Given the description of an element on the screen output the (x, y) to click on. 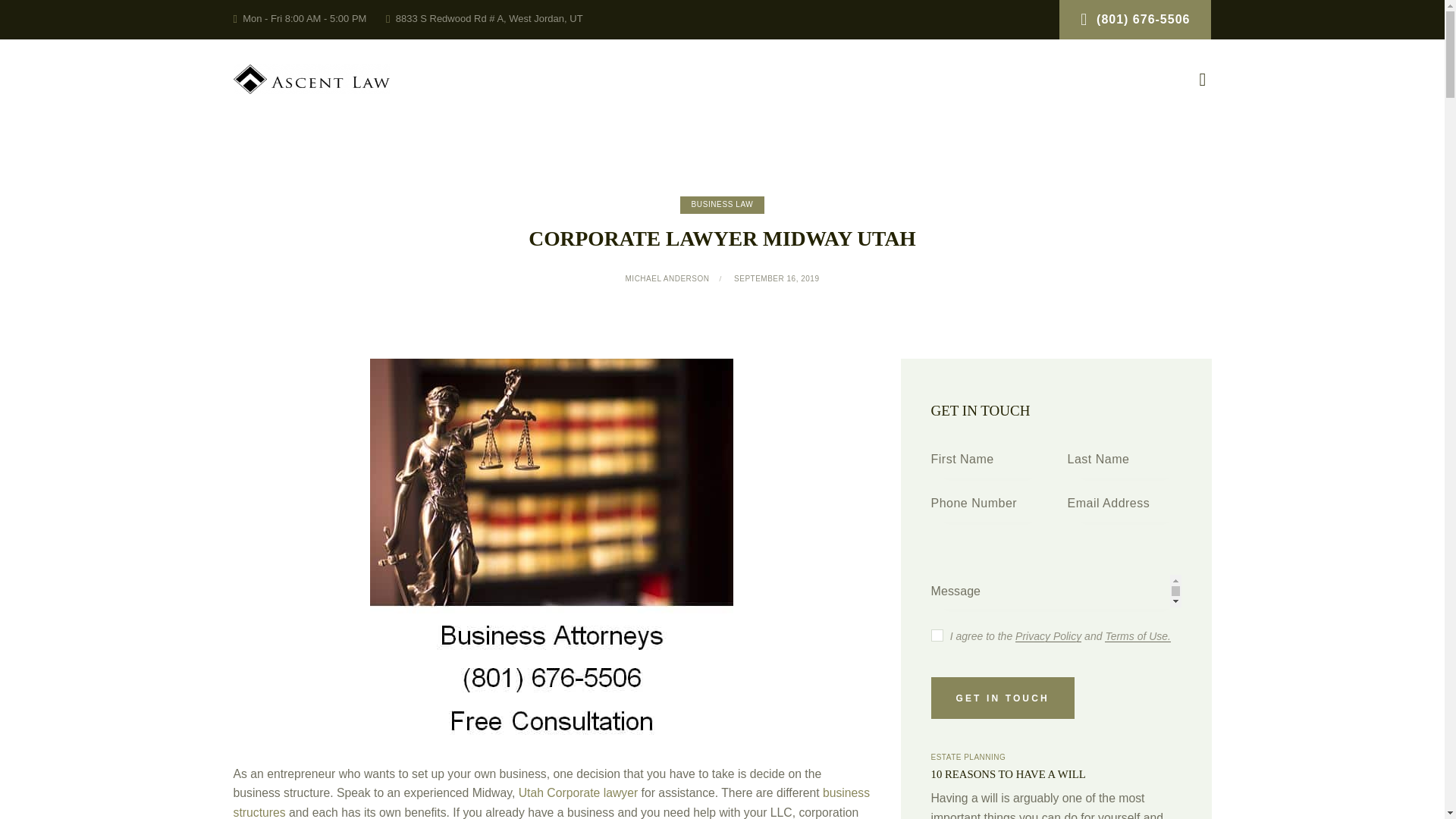
Get In Touch (1002, 698)
1 (935, 633)
